Given the description of an element on the screen output the (x, y) to click on. 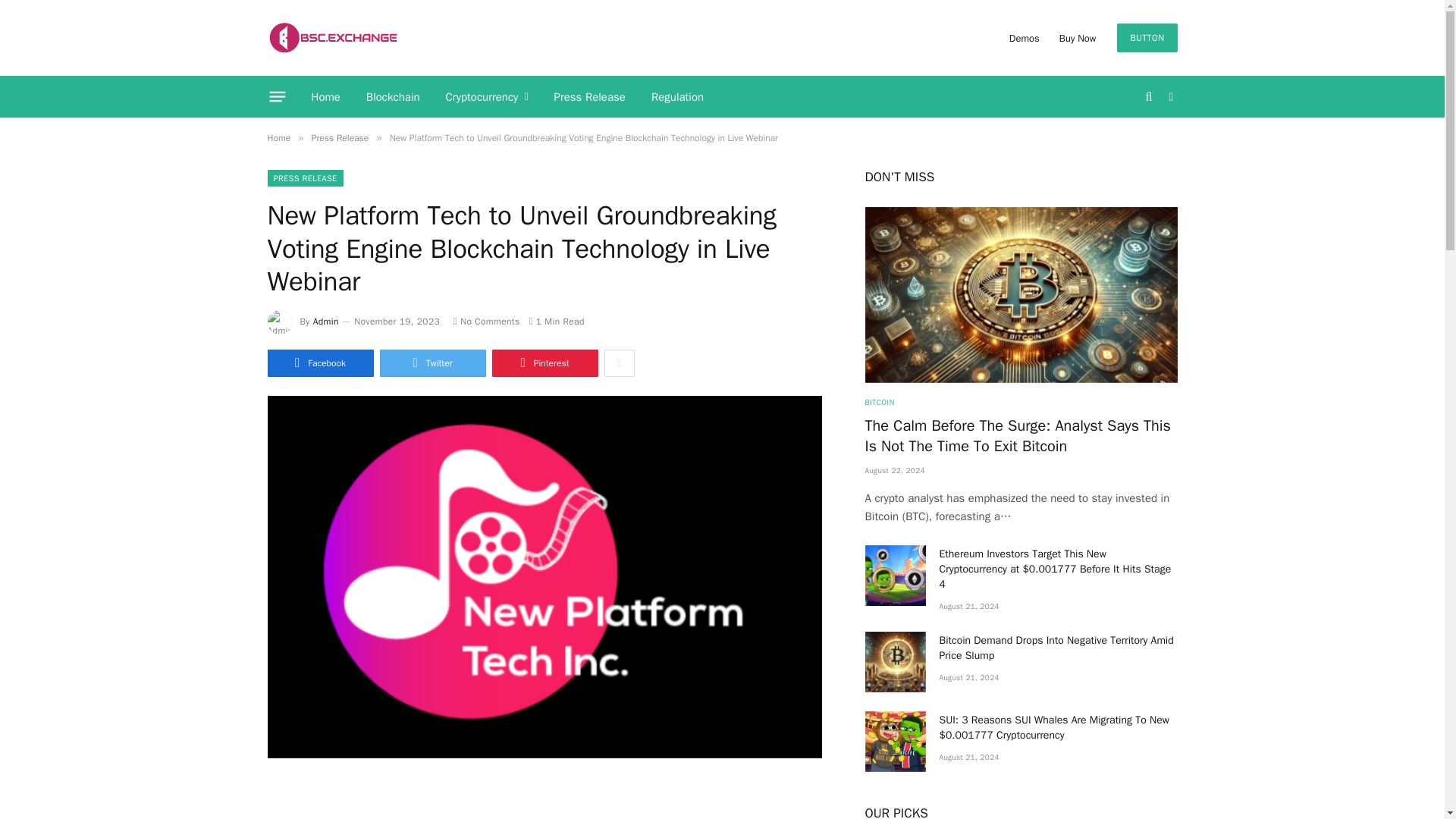
Share on Facebook (319, 362)
Facebook (319, 362)
Press Release (590, 96)
BUTTON (1146, 37)
Twitter (431, 362)
Bsc.exchange (332, 37)
No Comments (485, 321)
Blockchain (392, 96)
Switch to Dark Design - easier on eyes. (1168, 96)
Pinterest (544, 362)
